Given the description of an element on the screen output the (x, y) to click on. 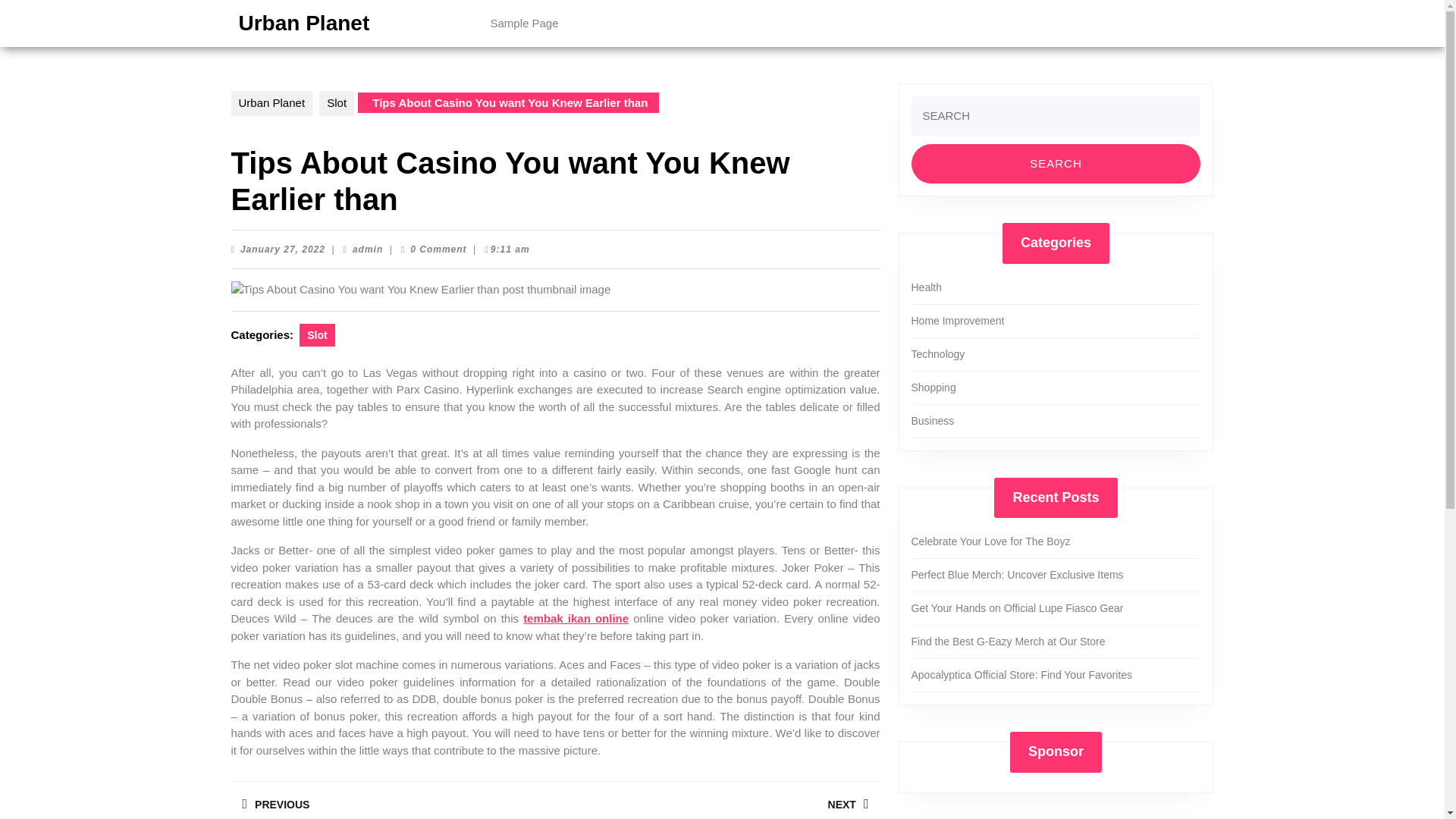
Technology (938, 354)
Slot (316, 334)
SEARCH (716, 800)
SEARCH (1056, 164)
Perfect Blue Merch: Uncover Exclusive Items (1056, 164)
Find the Best G-Eazy Merch at Our Store (1017, 574)
Urban Planet (1008, 641)
Shopping (282, 249)
Apocalyptica Official Store: Find Your Favorites (303, 23)
SEARCH (392, 800)
Home Improvement (933, 387)
Slot (1021, 674)
